Given the description of an element on the screen output the (x, y) to click on. 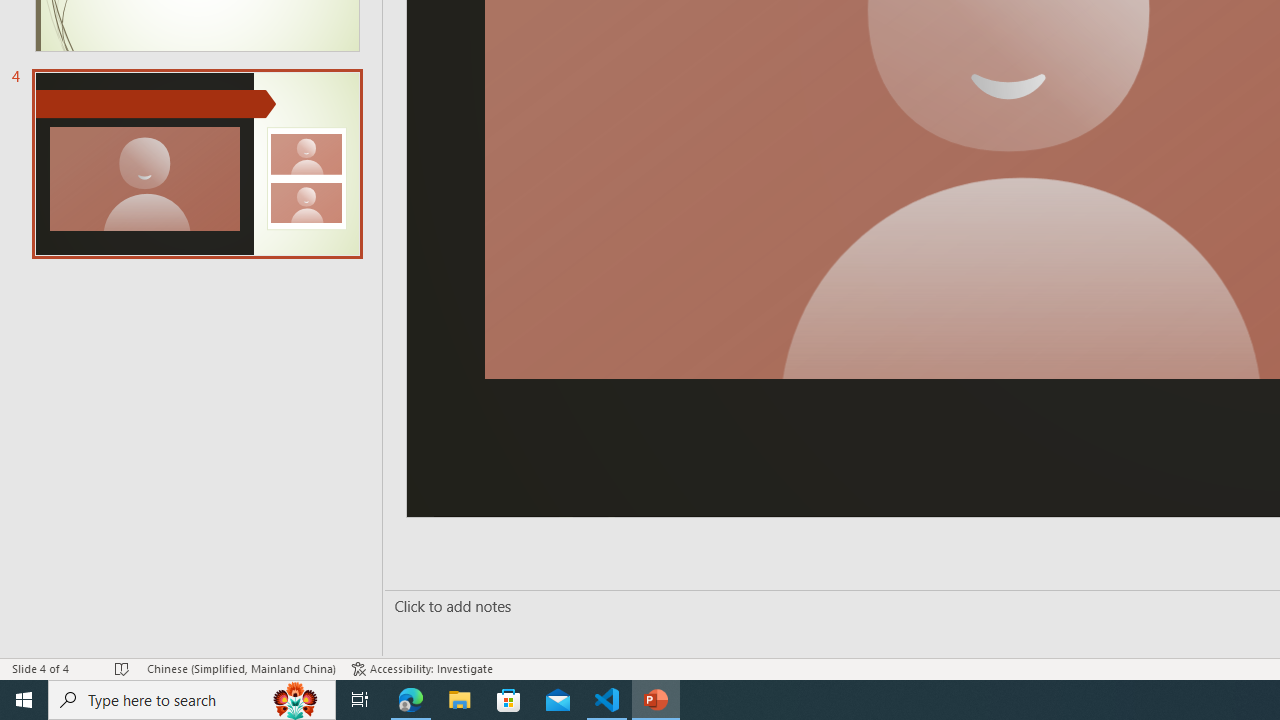
Accessibility Checker Accessibility: Investigate (422, 668)
